Given the description of an element on the screen output the (x, y) to click on. 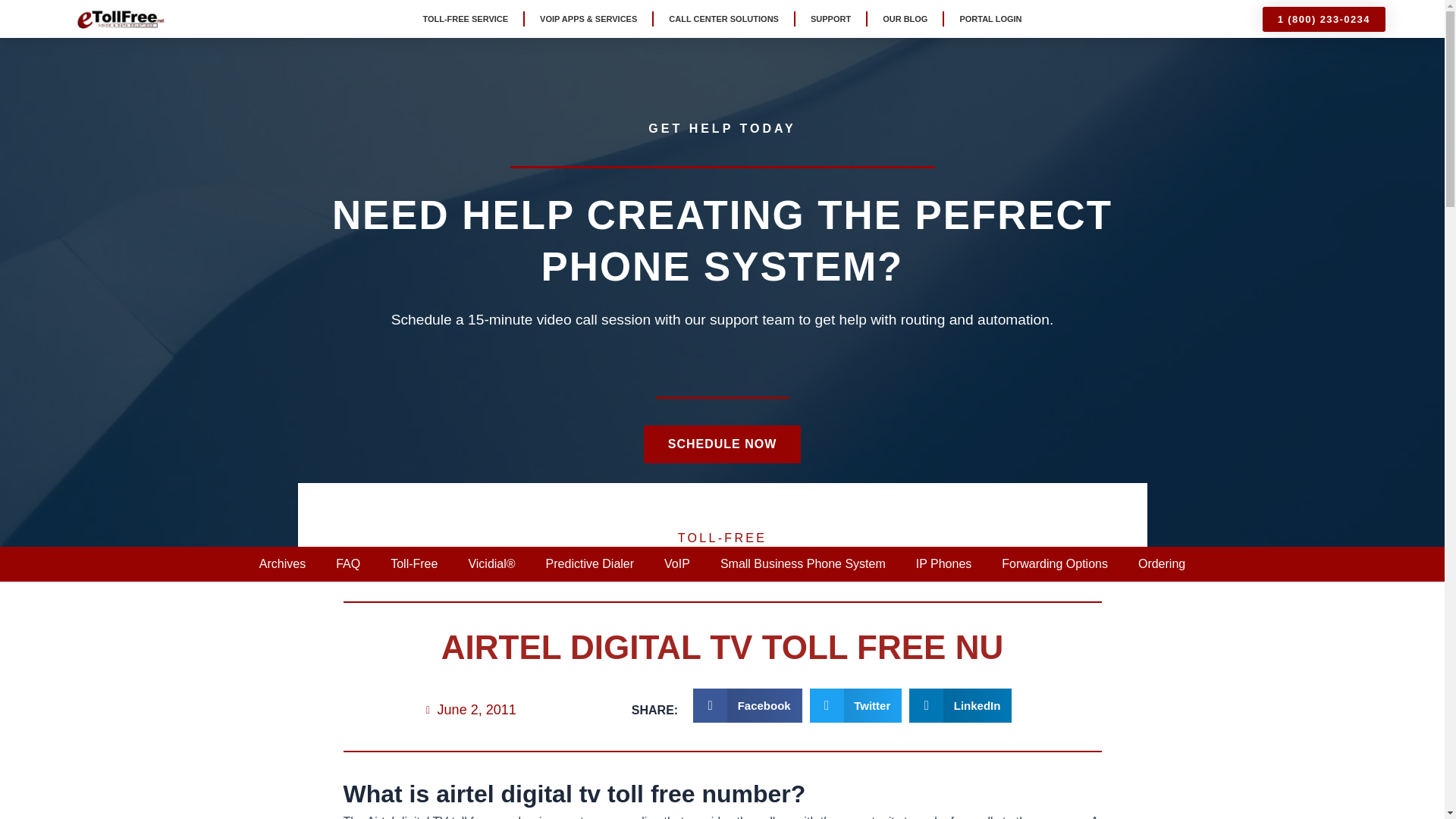
OUR BLOG (904, 18)
SUPPORT (830, 18)
CALL CENTER SOLUTIONS (723, 18)
PORTAL LOGIN (989, 18)
TOLL-FREE SERVICE (464, 18)
